Given the description of an element on the screen output the (x, y) to click on. 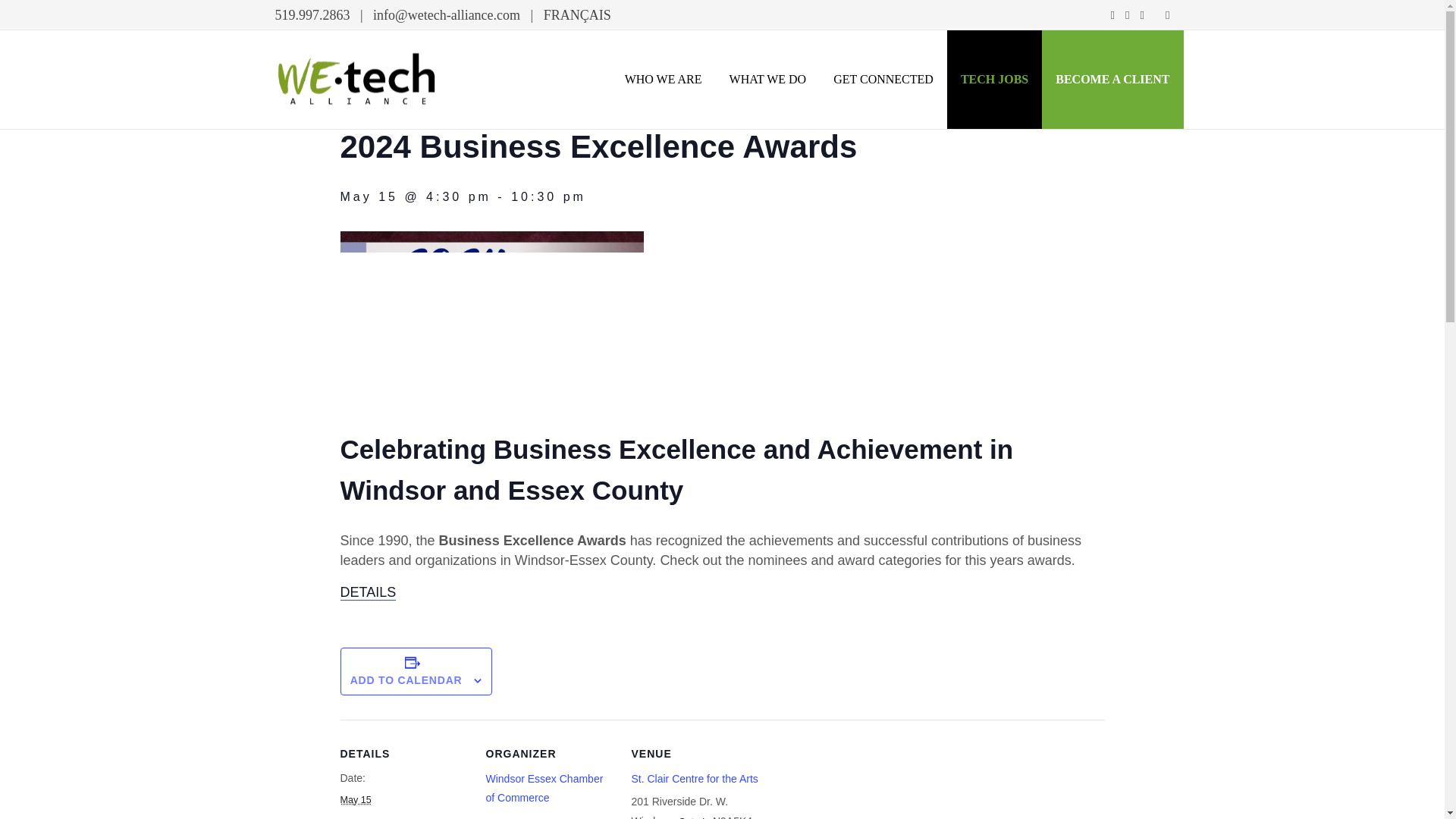
Facebook (1112, 15)
Site logo (357, 78)
519.997.2863 (312, 14)
YouTube (1167, 15)
LinkedIN (1142, 15)
Instagram (1126, 15)
